Given the description of an element on the screen output the (x, y) to click on. 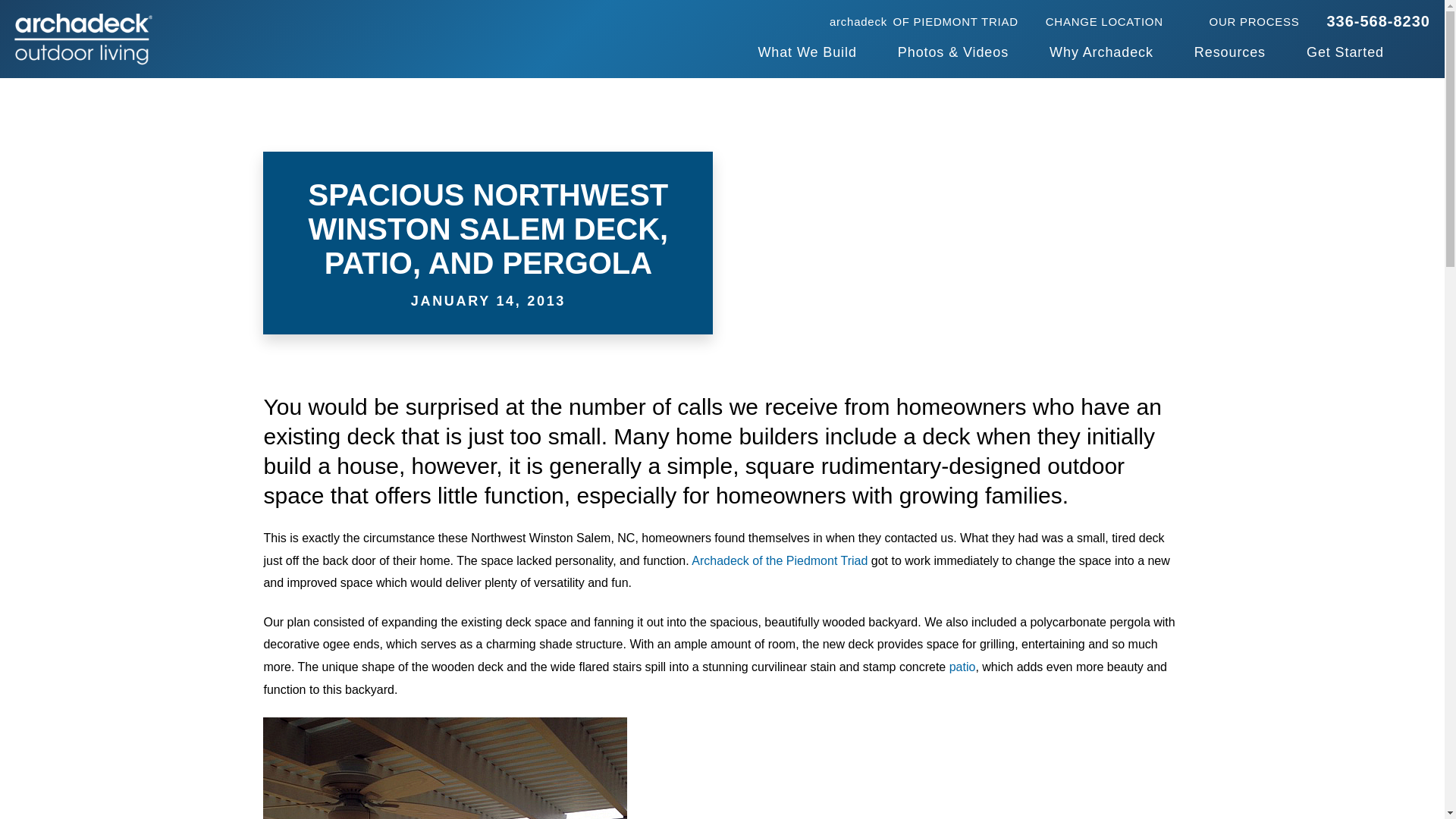
What We Build (806, 53)
CHANGE LOCATION (1113, 20)
Resources (1229, 53)
Why Archadeck (1101, 53)
Archadeck (923, 20)
336-568-8230 (83, 39)
OUR PROCESS (1377, 20)
